Given the description of an element on the screen output the (x, y) to click on. 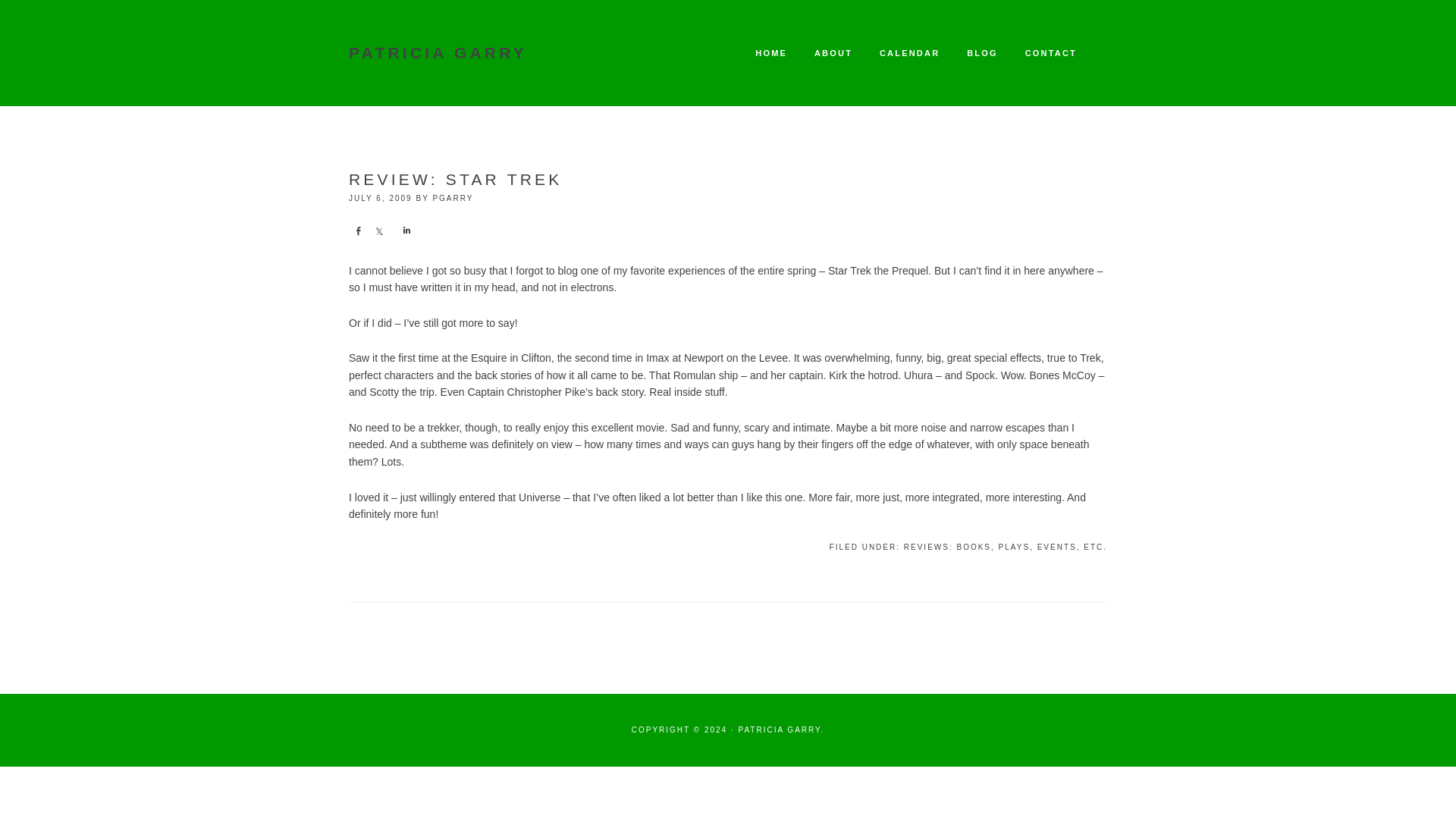
PATRICIA GARRY (438, 53)
Share (357, 230)
CONTACT (1051, 53)
Share (405, 230)
REVIEWS: BOOKS, PLAYS, EVENTS, ETC. (1005, 546)
CALENDAR (909, 53)
PGARRY (452, 198)
Share (379, 230)
